Given the description of an element on the screen output the (x, y) to click on. 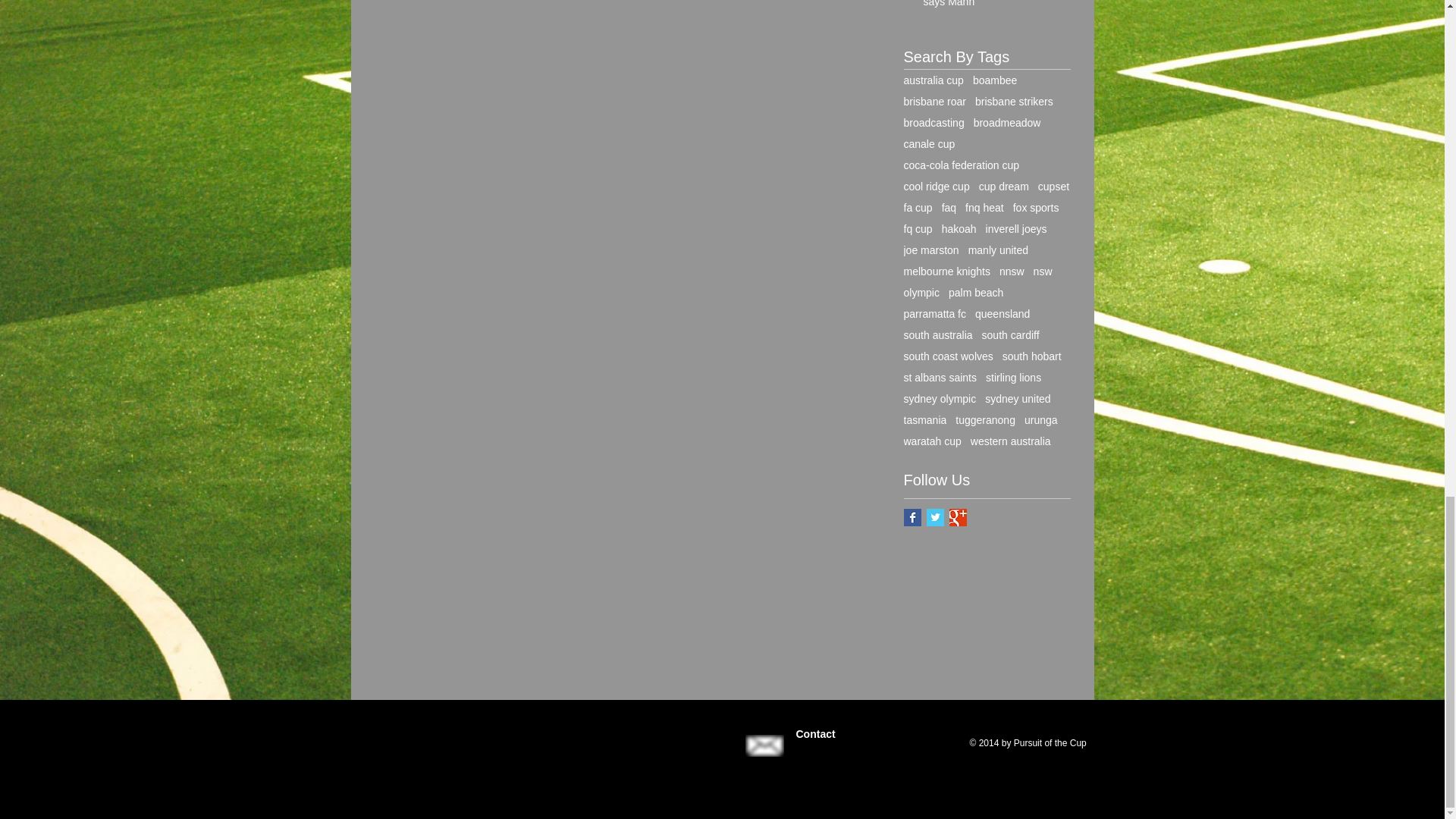
Apple Isle pride on the line, says Mann (992, 7)
hakoah (959, 228)
boambee (994, 80)
fox sports (1036, 207)
cupset (1053, 186)
inverell joeys (1015, 228)
cup dream (1003, 186)
brisbane roar (935, 101)
broadcasting (933, 122)
broadmeadow (1007, 122)
